Given the description of an element on the screen output the (x, y) to click on. 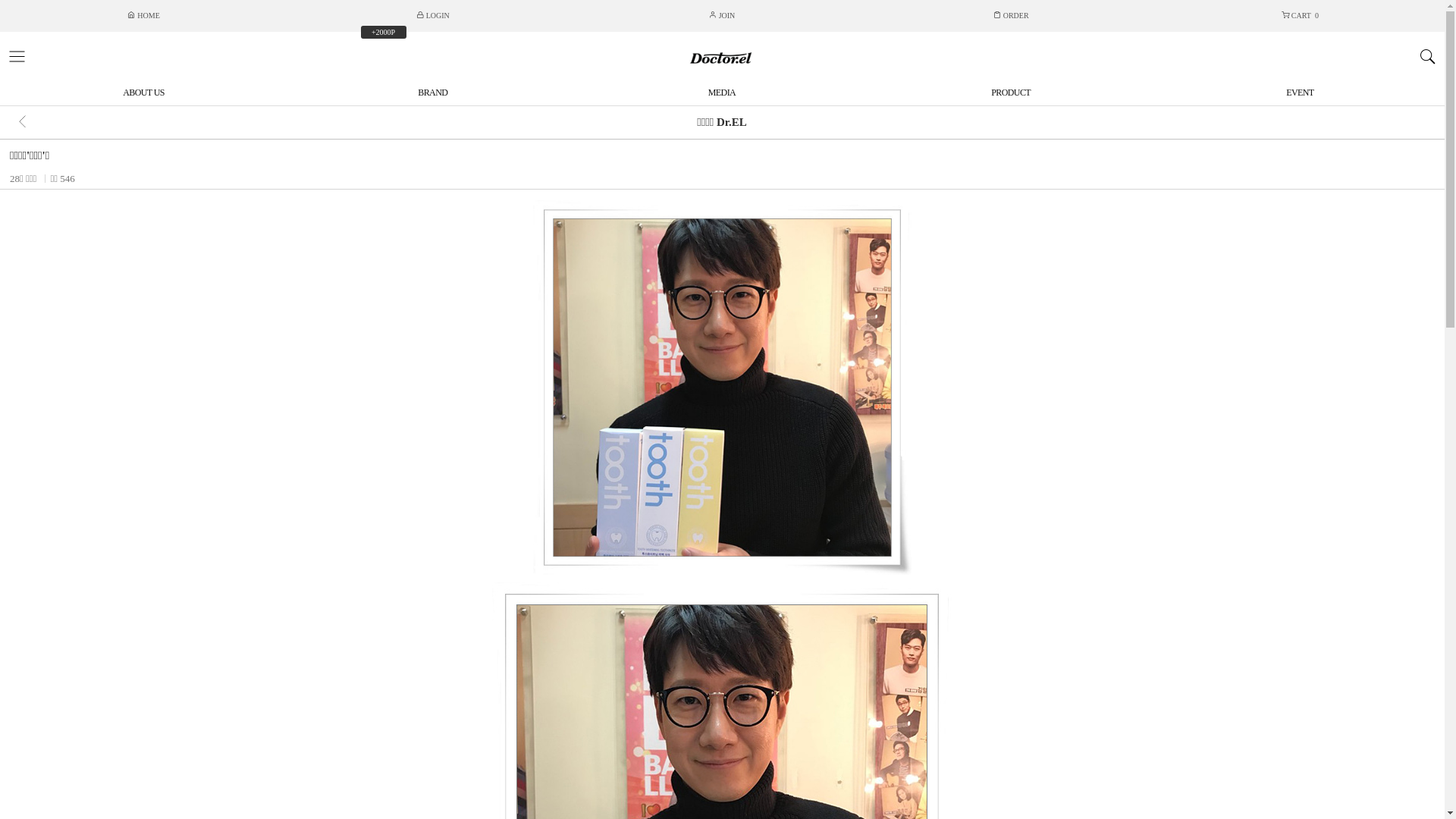
PRODUCT Element type: text (1010, 91)
MEDIA Element type: text (721, 91)
EVENT Element type: text (1299, 91)
BRAND Element type: text (432, 91)
